Given the description of an element on the screen output the (x, y) to click on. 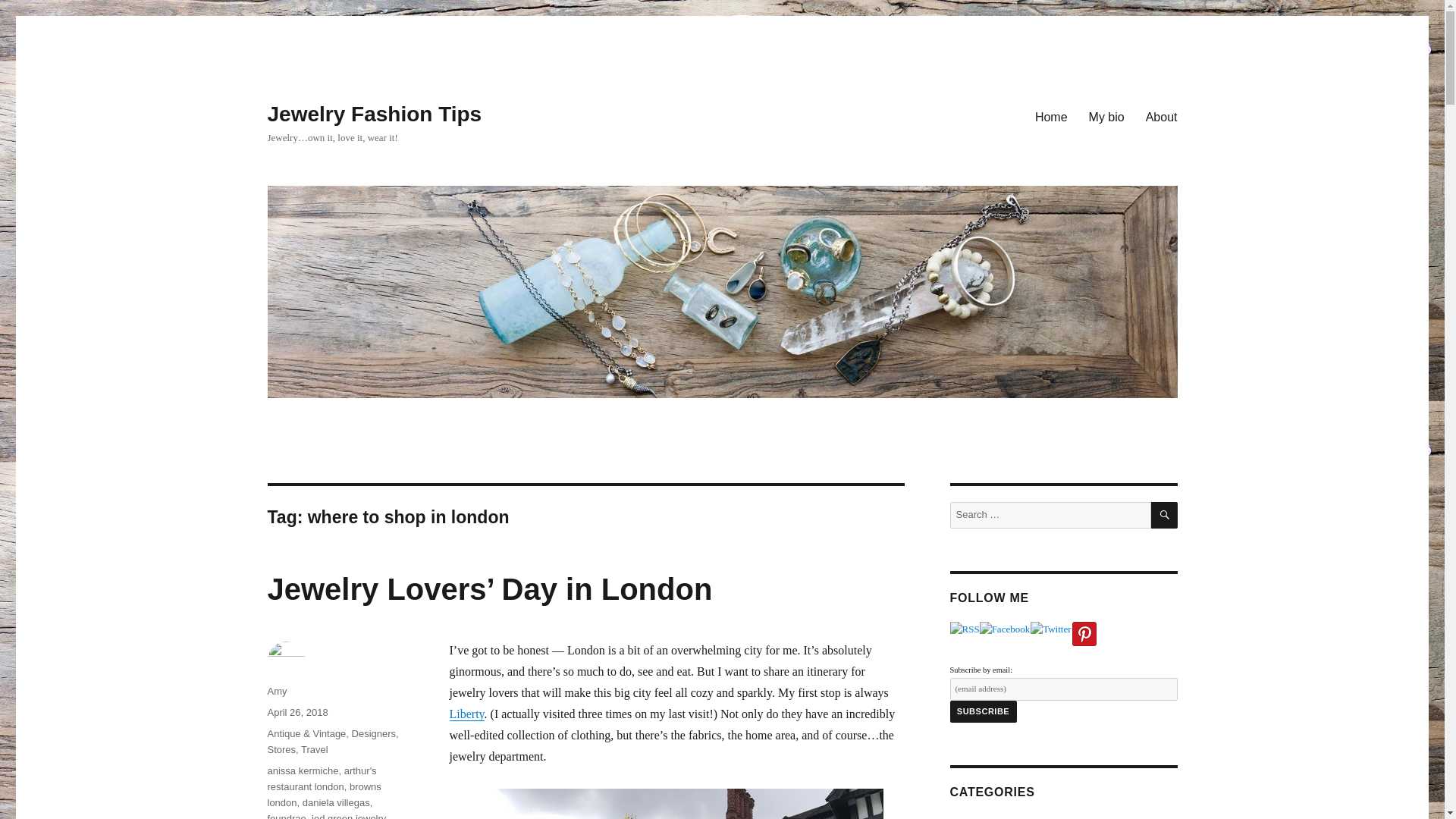
About (1161, 116)
April 26, 2018 (296, 712)
My bio (1106, 116)
Jewelry Fashion Tips (373, 114)
Liberty (465, 713)
Amy (276, 690)
Subscribe (982, 712)
Home (1051, 116)
